Given the description of an element on the screen output the (x, y) to click on. 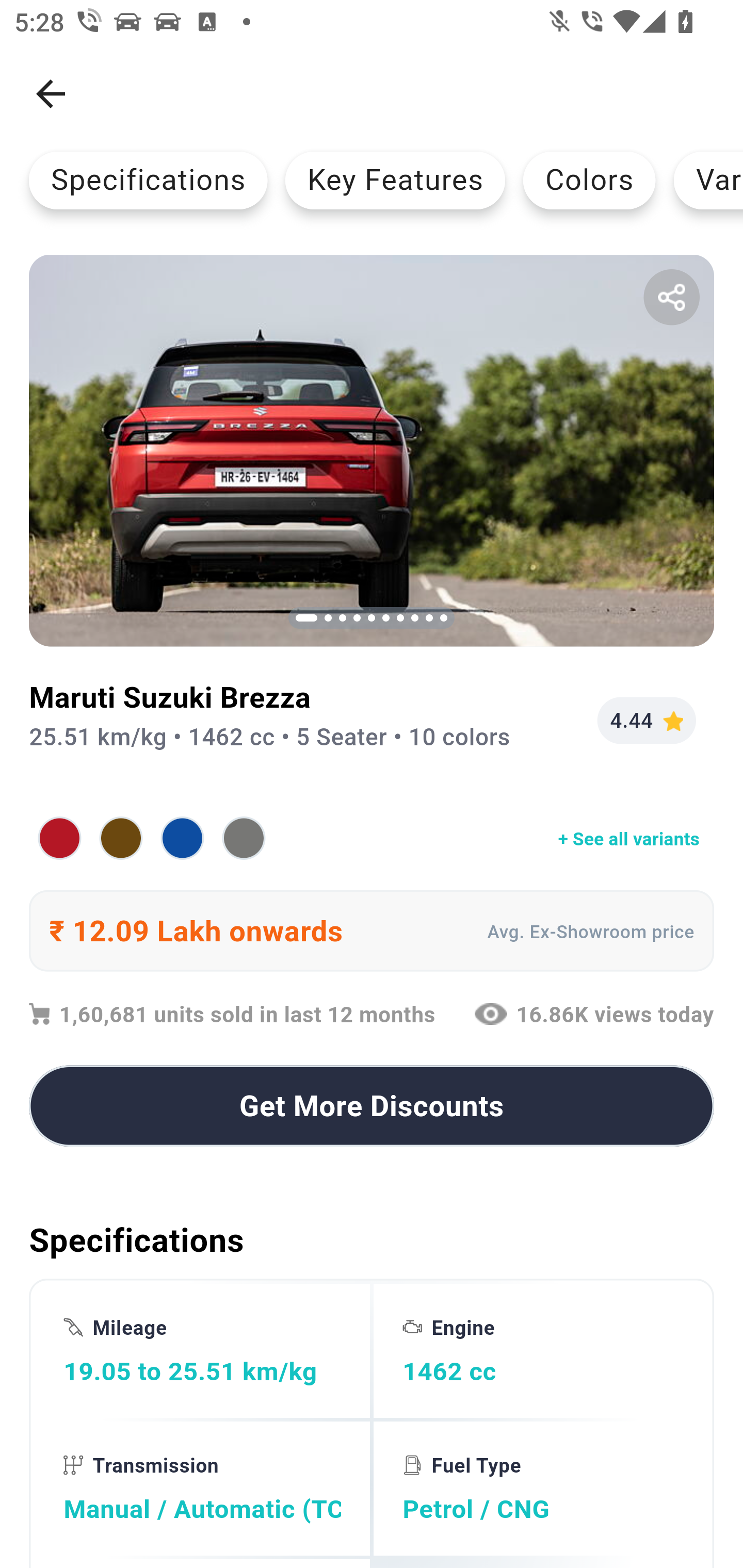
Back (50, 93)
Specifications (147, 180)
Key Features (395, 180)
Colors (589, 180)
+ See all variants (371, 837)
Mileage 19.05 to 25.51 km/kg (202, 1350)
Engine 1462 cc (540, 1350)
Transmission Manual / Automatic (TC) (202, 1488)
Fuel Type Petrol / CNG (540, 1488)
